Given the description of an element on the screen output the (x, y) to click on. 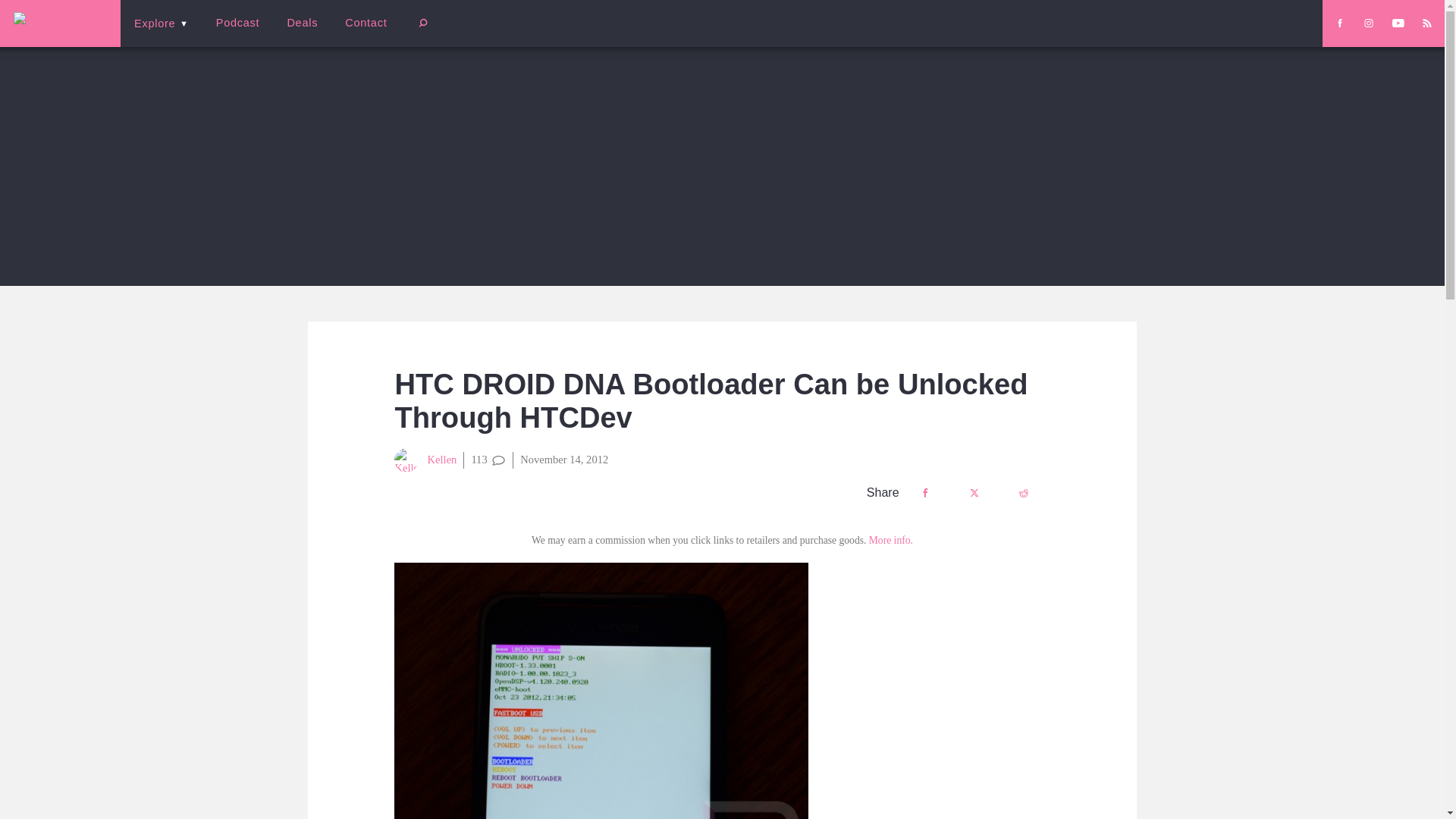
Deals (302, 23)
Explore (161, 23)
Podcast (237, 23)
Beginners' Guide (360, 33)
Droid Life on YouTube (1398, 23)
droid dna bootloader2 (601, 690)
Contact (365, 23)
Droid Life RSS (1426, 23)
Kellen (425, 459)
Droid Life on Facebook (1339, 23)
